Given the description of an element on the screen output the (x, y) to click on. 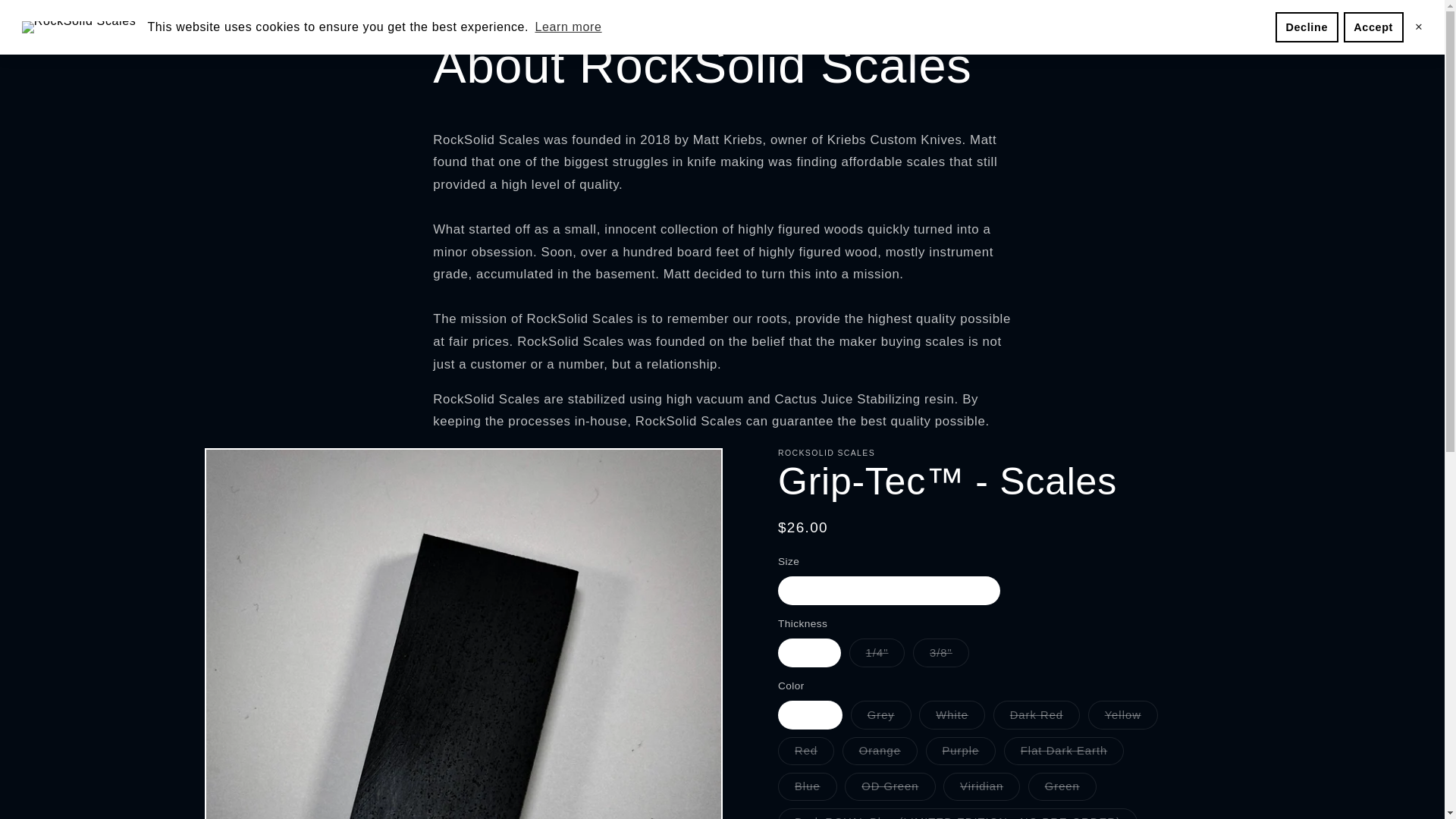
Home (437, 17)
Accept (1373, 27)
Supplies (1019, 17)
Reviews (1085, 17)
Decline (1306, 27)
New Arrivals (583, 17)
RockWax (953, 17)
Cart (1231, 17)
Bargain Bin (876, 17)
